Given the description of an element on the screen output the (x, y) to click on. 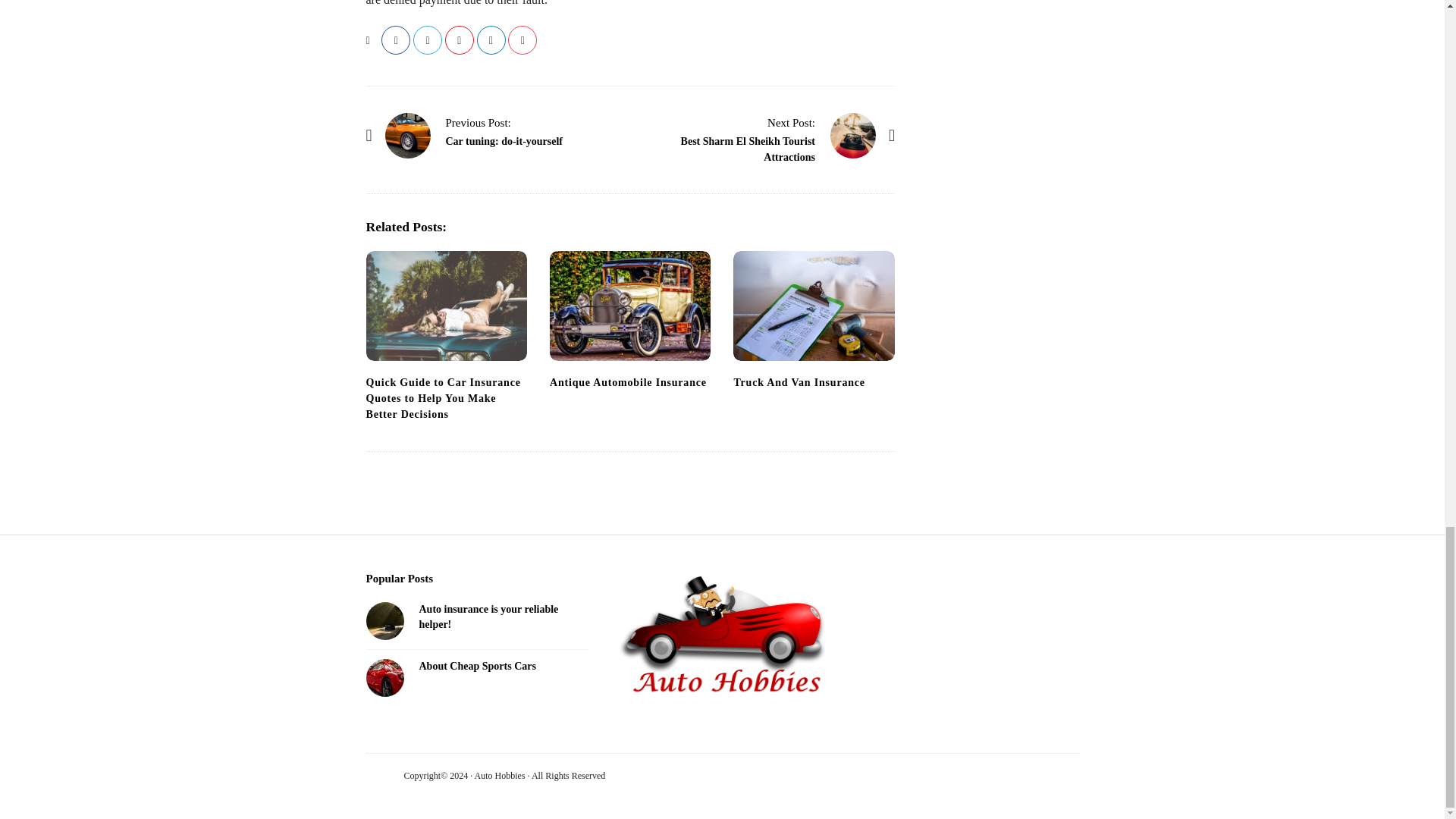
Previous Post: (478, 122)
Car tuning: do-it-yourself (407, 135)
Truck And Van Insurance (813, 305)
Best Sharm El Sheikh Tourist Attractions (748, 148)
Car tuning: do-it-yourself (504, 141)
Truck And Van Insurance (798, 382)
Antique Automobile Insurance (630, 305)
Truck And Van Insurance (798, 382)
Best Sharm El Sheikh Tourist Attractions (791, 122)
